Given the description of an element on the screen output the (x, y) to click on. 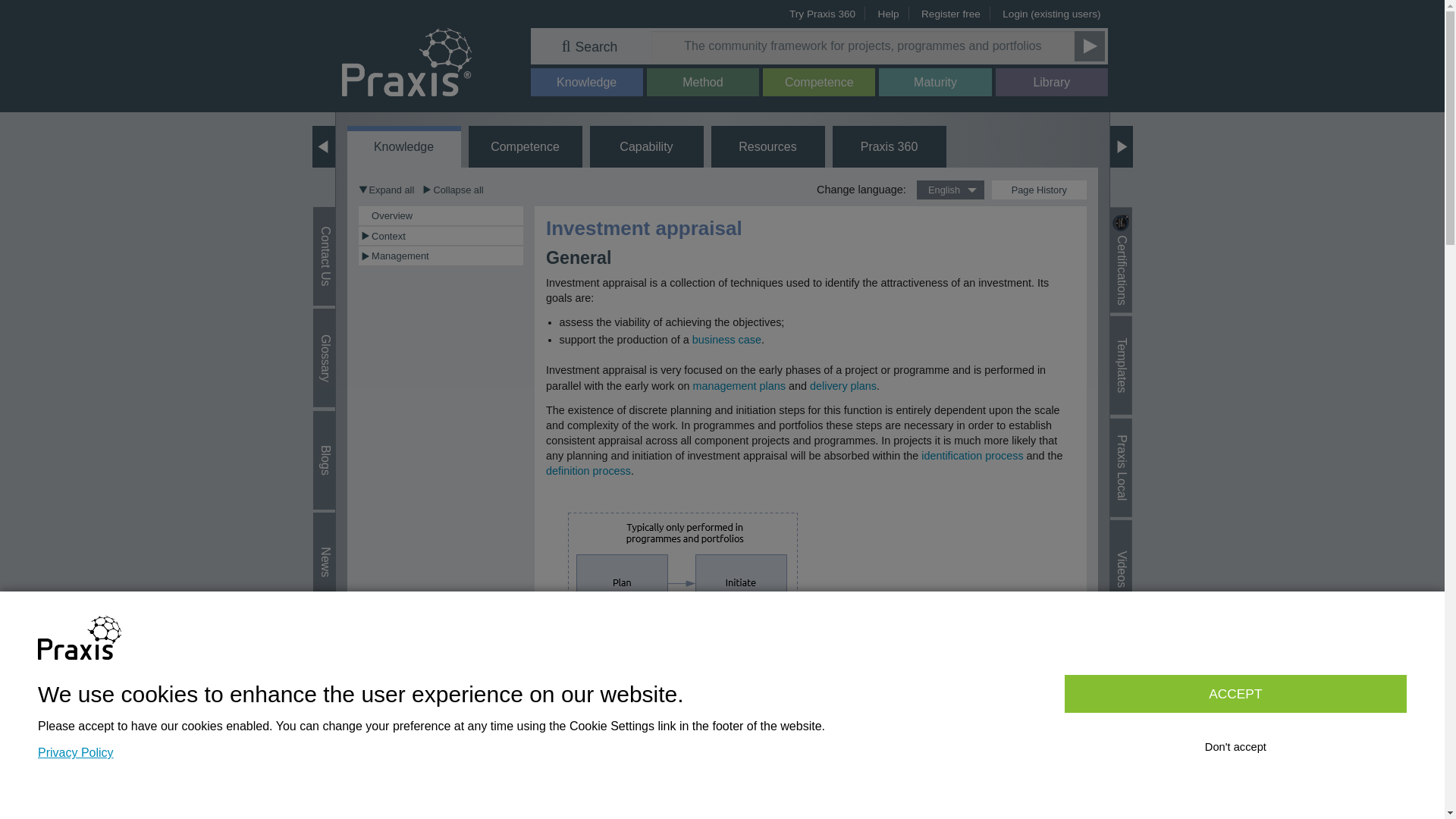
Try Praxis 360 (822, 13)
Praxis Local (1147, 440)
Competence (818, 81)
Expand all (385, 189)
Certifications (1150, 241)
Praxis home (406, 60)
Knowledge (404, 149)
Contact Us (348, 232)
Register free (950, 13)
Blogs (333, 450)
Collapse all (452, 189)
Help (888, 13)
Templates (1142, 343)
News (333, 553)
Overview (446, 215)
